Given the description of an element on the screen output the (x, y) to click on. 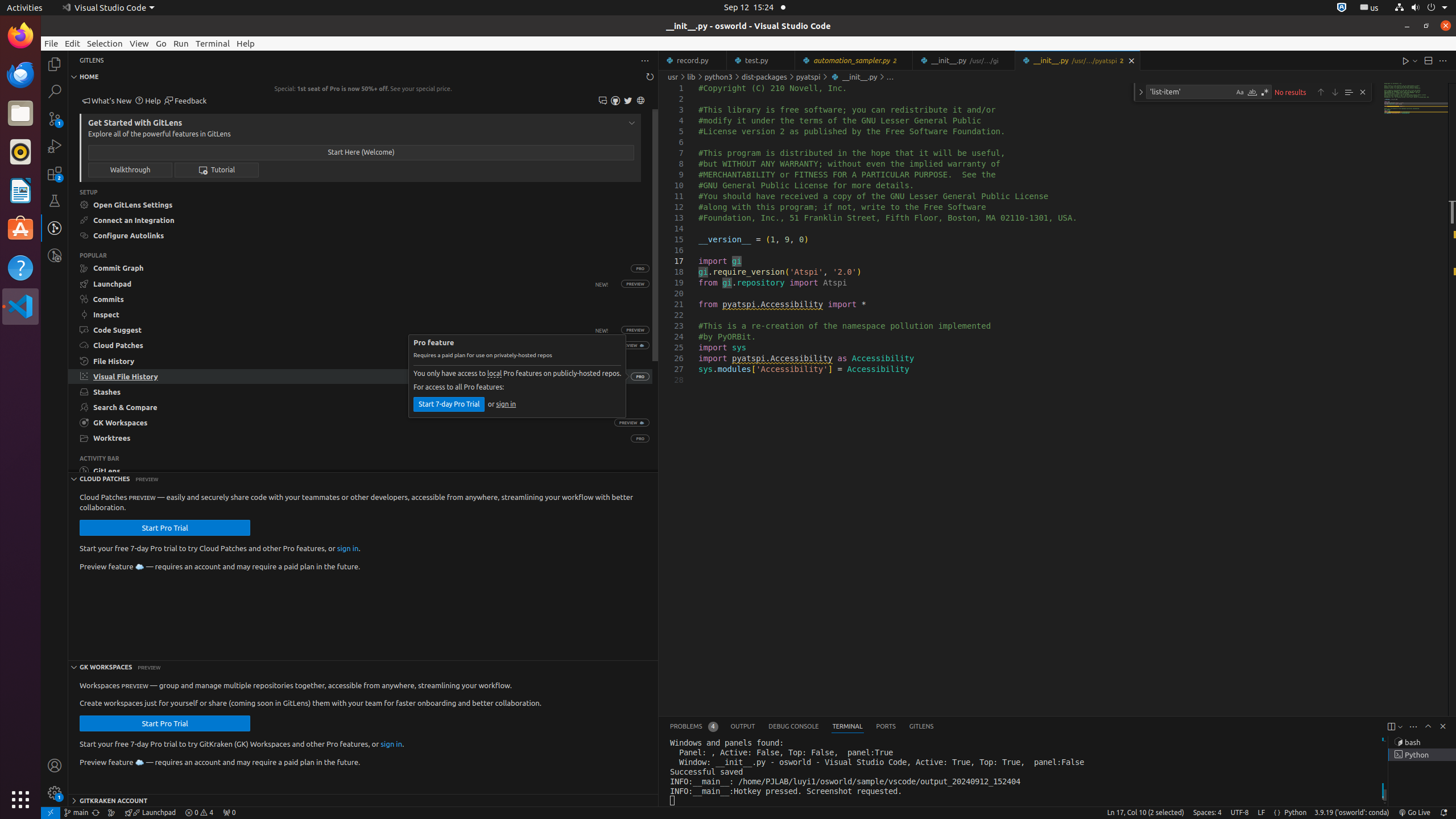
Accounts Element type: push-button (54, 765)
Go Element type: push-button (161, 43)
Split Editor Down Element type: push-button (1427, 60)
Terminal (Ctrl+`) Element type: page-tab (847, 726)
Ports Element type: page-tab (885, 726)
